Given the description of an element on the screen output the (x, y) to click on. 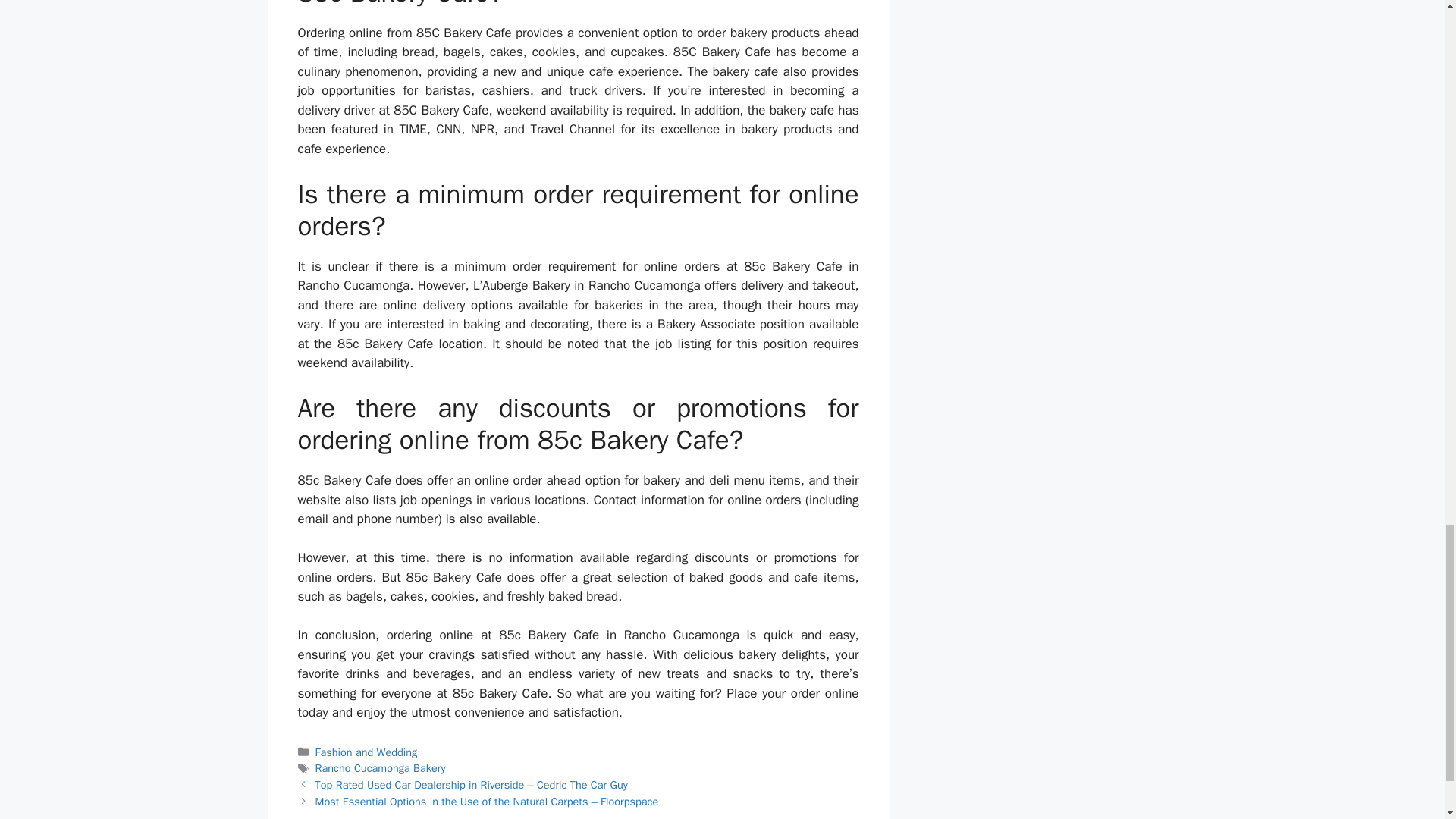
Fashion and Wedding (366, 752)
Rancho Cucamonga Bakery (380, 767)
